Given the description of an element on the screen output the (x, y) to click on. 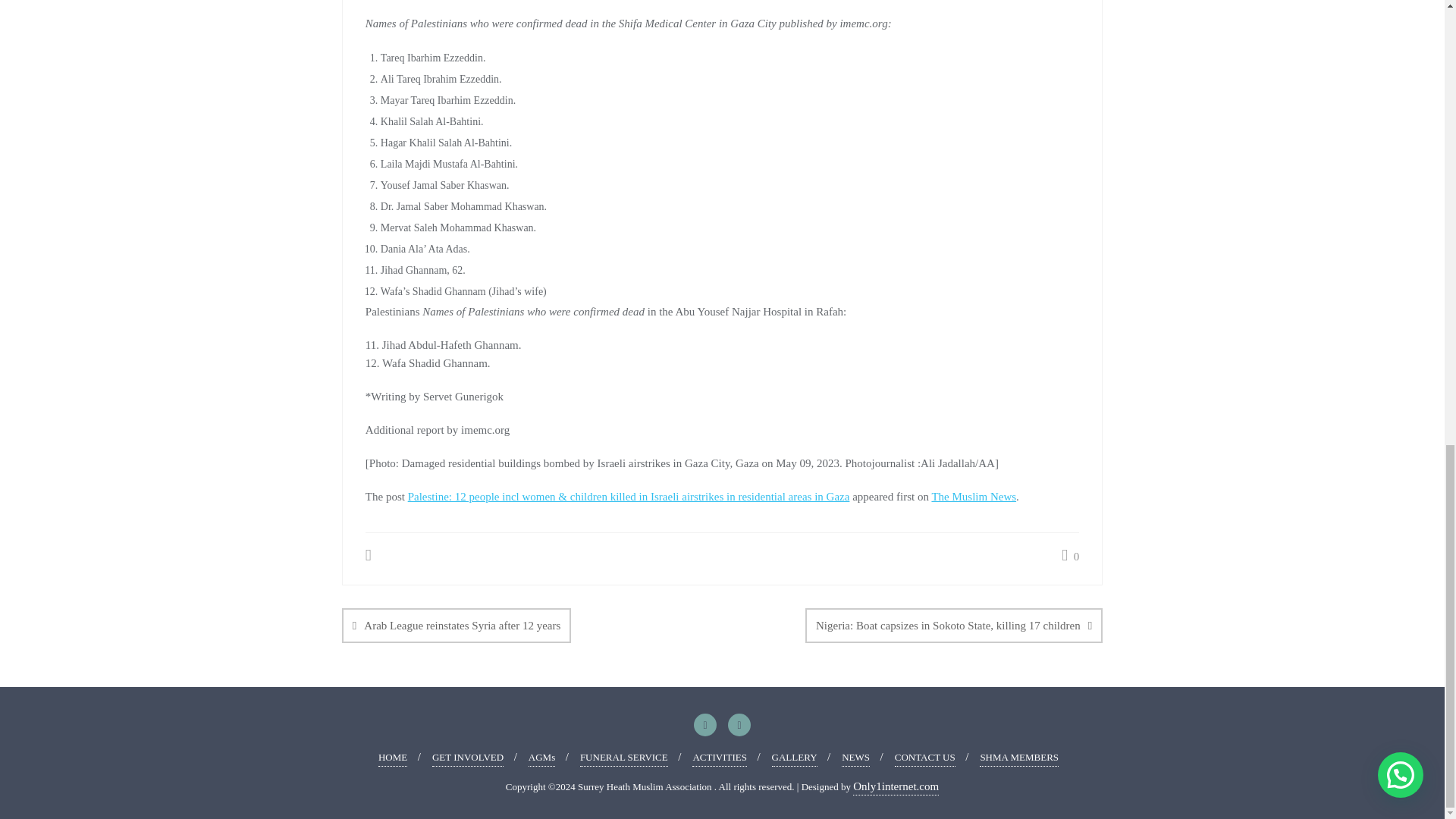
Arab League reinstates Syria after 12 years (457, 625)
FUNERAL SERVICE (623, 757)
GET INVOLVED (467, 757)
AGMs (541, 757)
Nigeria: Boat capsizes in Sokoto State, killing 17 children (953, 625)
ACTIVITIES (719, 757)
HOME (392, 757)
The Muslim News (973, 496)
